Given the description of an element on the screen output the (x, y) to click on. 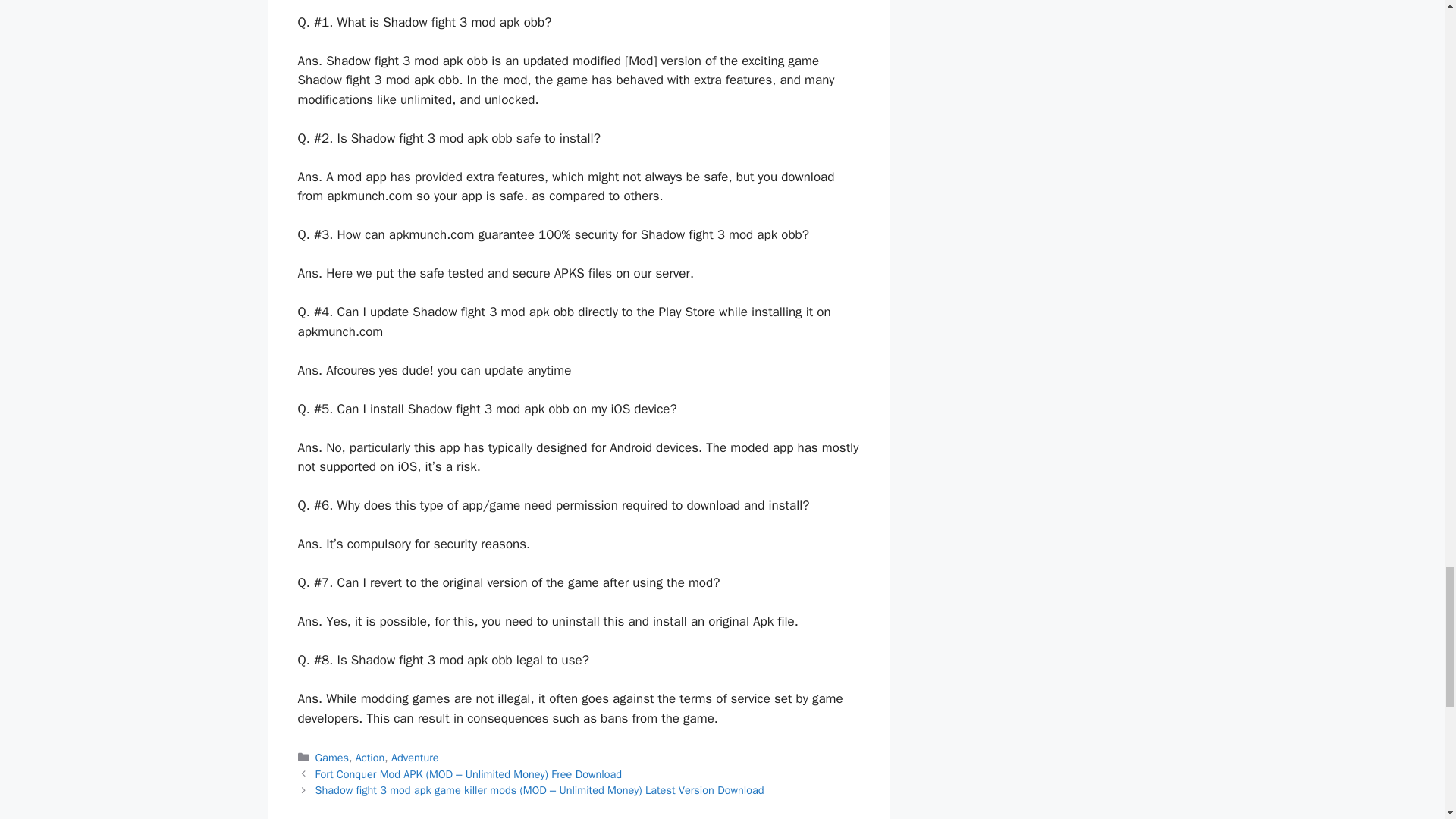
Adventure (415, 757)
Action (370, 757)
Games (332, 757)
